Given the description of an element on the screen output the (x, y) to click on. 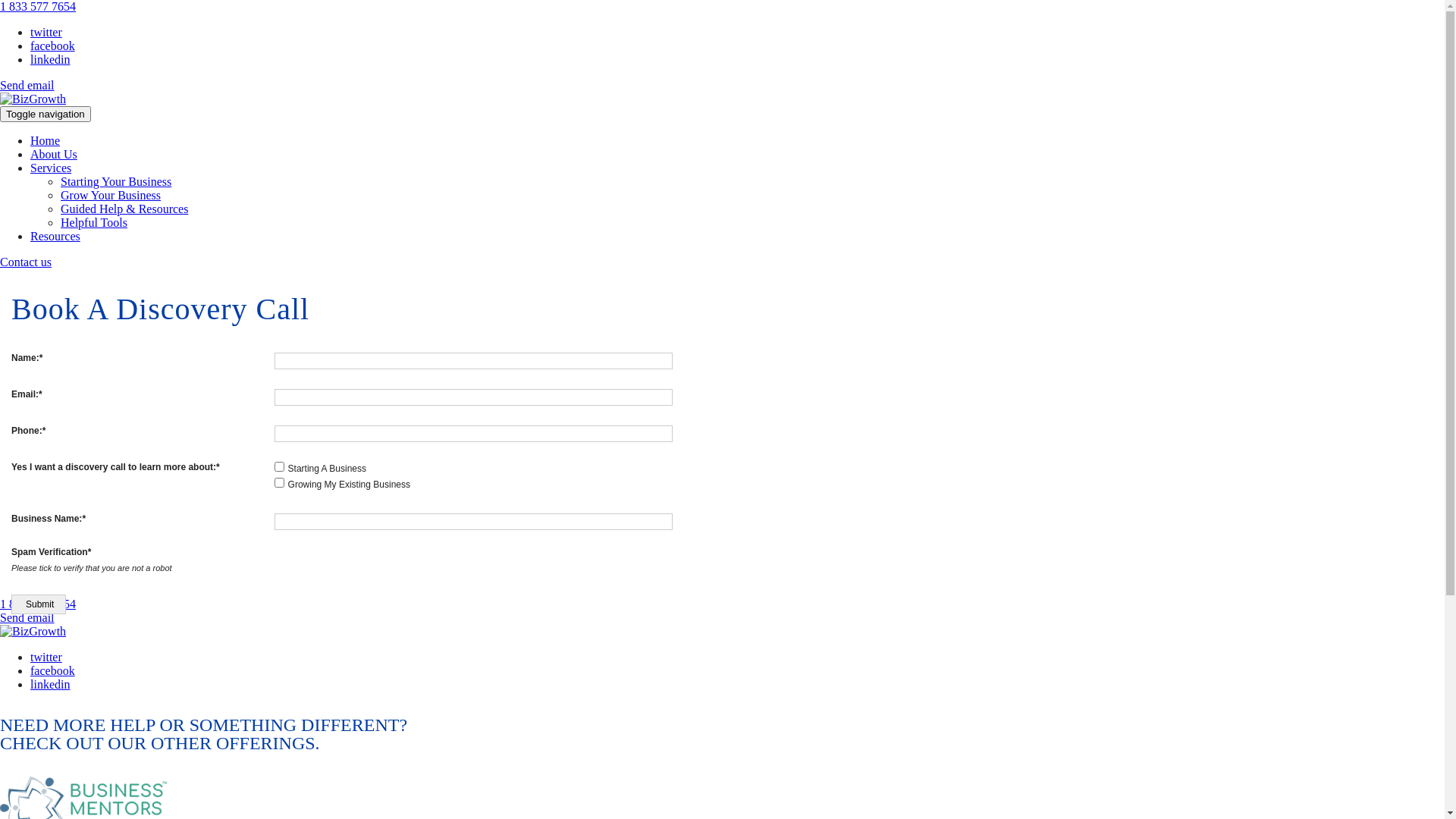
twitter Element type: text (46, 31)
Helpful Tools Element type: text (93, 222)
Send email Element type: text (27, 617)
BizGrowth Element type: hover (32, 630)
Toggle navigation Element type: text (45, 114)
twitter Element type: text (46, 656)
linkedin Element type: text (49, 59)
Guided Help & Resources Element type: text (124, 208)
1 833 577 7654 Element type: text (37, 6)
BizGrowth Element type: hover (32, 98)
facebook Element type: text (52, 45)
Services Element type: text (50, 167)
facebook Element type: text (52, 670)
Resources Element type: text (55, 235)
Grow Your Business Element type: text (110, 194)
Starting Your Business Element type: text (115, 181)
1 833 577 7654 Element type: text (37, 603)
Submit Element type: text (38, 604)
Contact us Element type: text (25, 261)
linkedin Element type: text (49, 683)
Home Element type: text (44, 140)
Send email Element type: text (27, 84)
About Us Element type: text (53, 153)
